Given the description of an element on the screen output the (x, y) to click on. 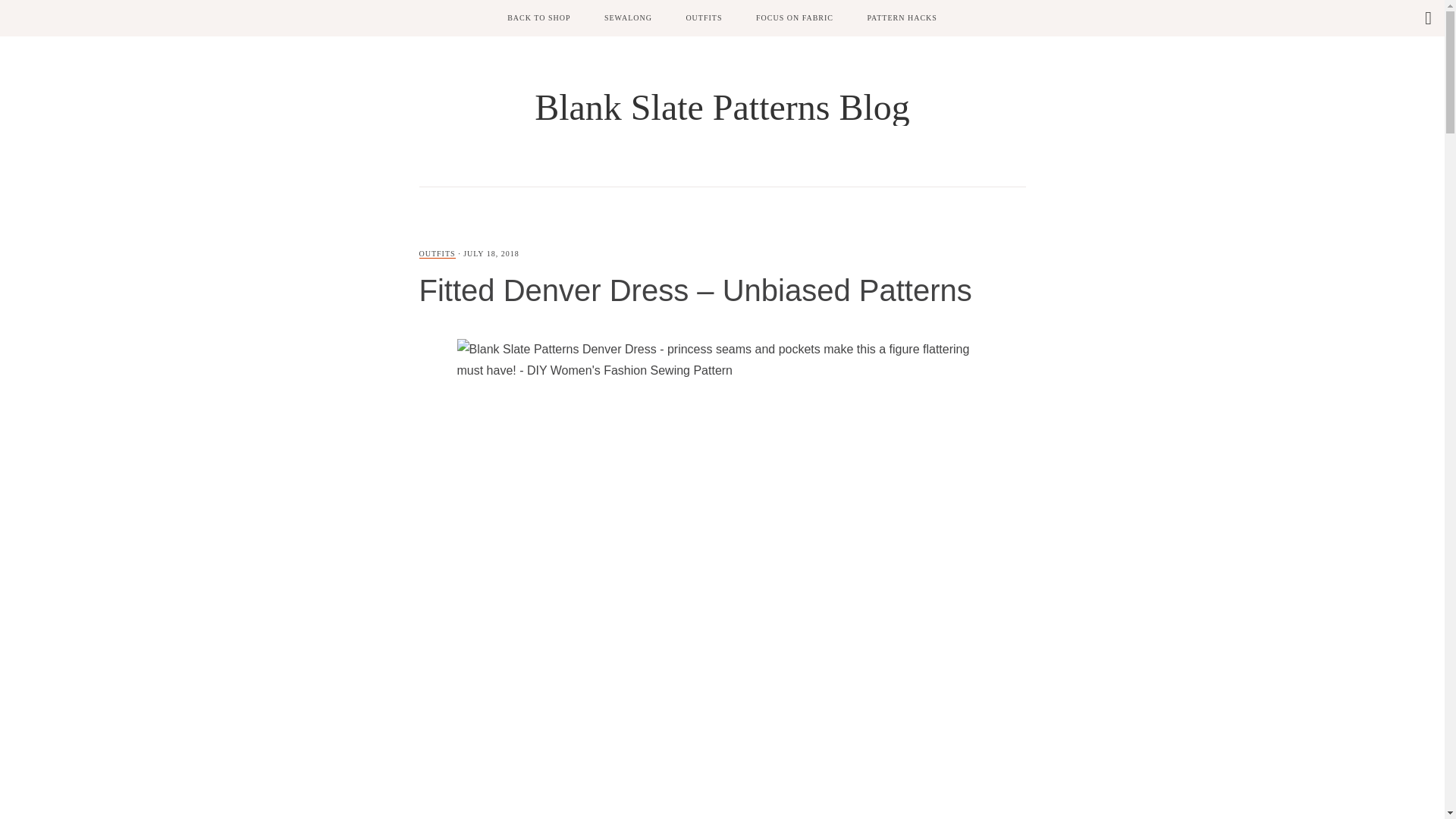
Blank Slate Patterns Blog (722, 106)
OUTFITS (702, 18)
OUTFITS (436, 253)
BACK TO SHOP (538, 18)
SEWALONG (627, 18)
Search (13, 10)
FOCUS ON FABRIC (794, 18)
PATTERN HACKS (901, 18)
